Given the description of an element on the screen output the (x, y) to click on. 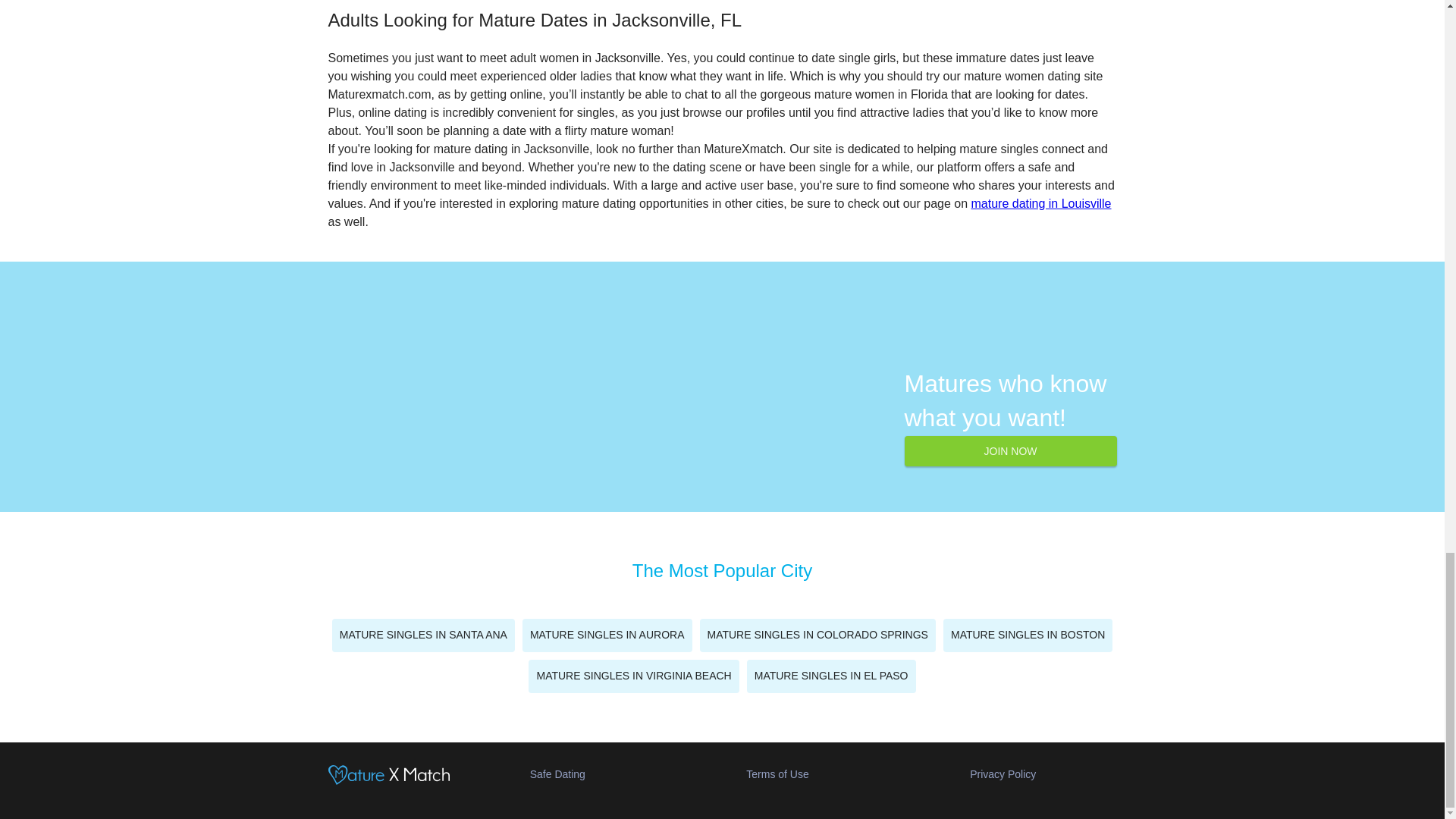
Safe Dating (557, 774)
Mature singles in Virginia Beach (633, 676)
Mature Singles in Aurora (607, 635)
Terms of Use (776, 774)
MATURE SINGLES IN EL PASO (830, 676)
Privacy Policy (1002, 774)
MATURE SINGLES IN AURORA (607, 635)
Mature Singles in Boston (1027, 635)
JOIN NOW (1010, 450)
Mature singles in Santa Ana (423, 635)
